Given the description of an element on the screen output the (x, y) to click on. 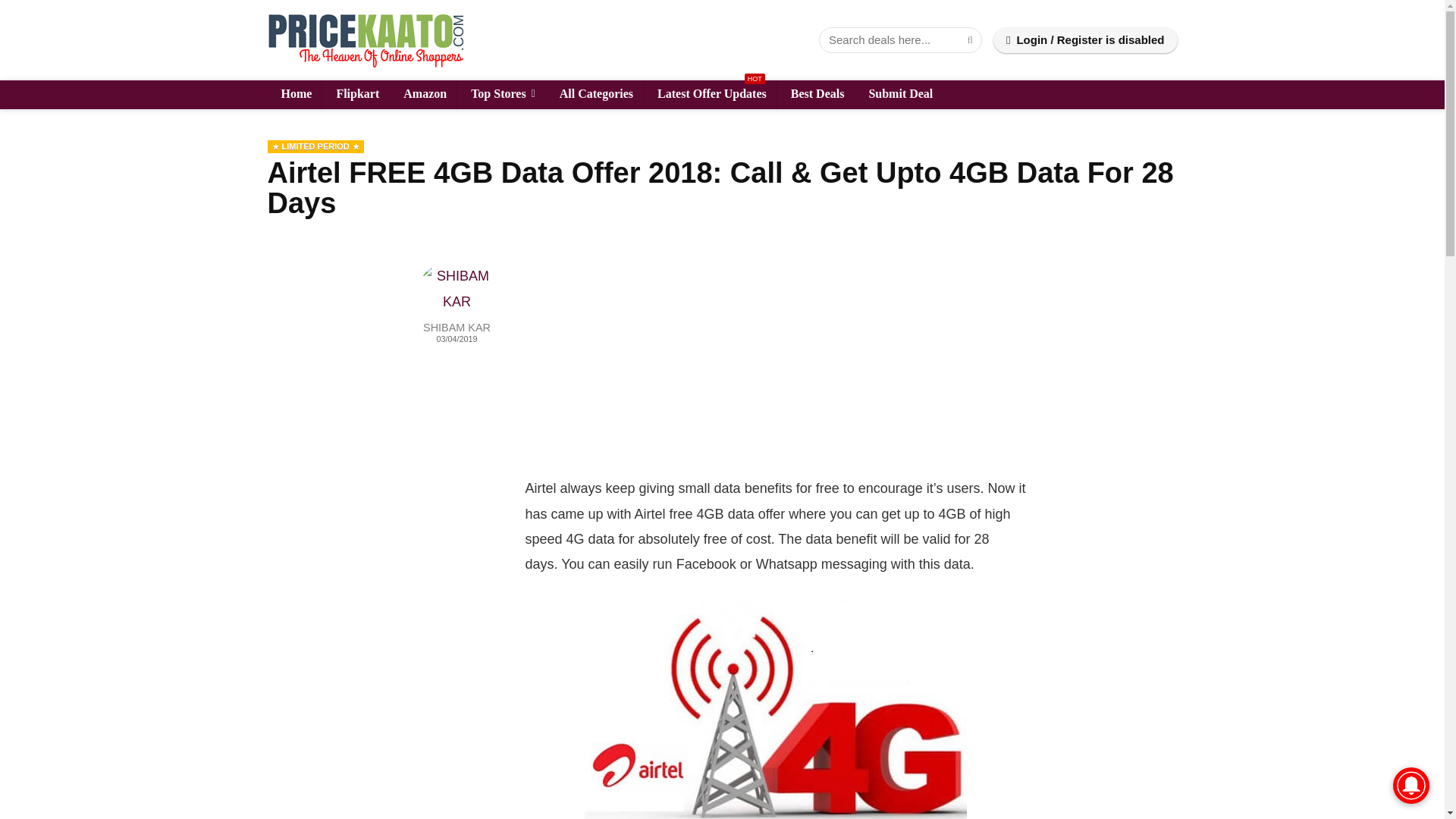
Home (293, 94)
Amazon (423, 94)
SHIBAM KAR (457, 327)
Best Deals (815, 94)
Top Stores (500, 94)
Advertisement (774, 369)
Airtel Free 4GB Data Offer 2018 (774, 709)
Submit Deal (898, 94)
All Categories (594, 94)
